Given the description of an element on the screen output the (x, y) to click on. 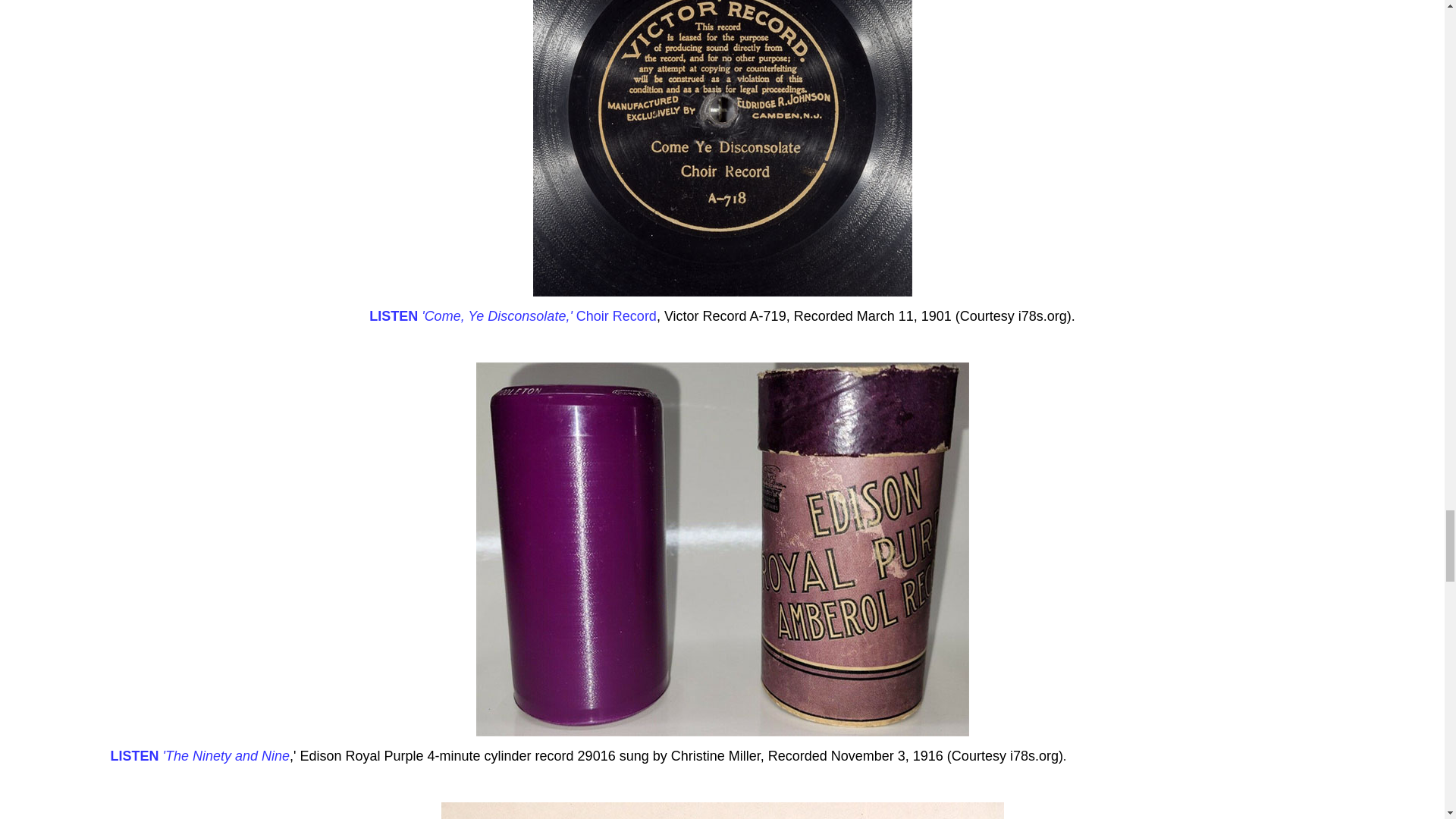
LISTEN (393, 315)
LISTEN 'The Ninety and Nine (199, 755)
'Come, Ye Disconsolate,' (494, 315)
Choir Record (614, 315)
